Given the description of an element on the screen output the (x, y) to click on. 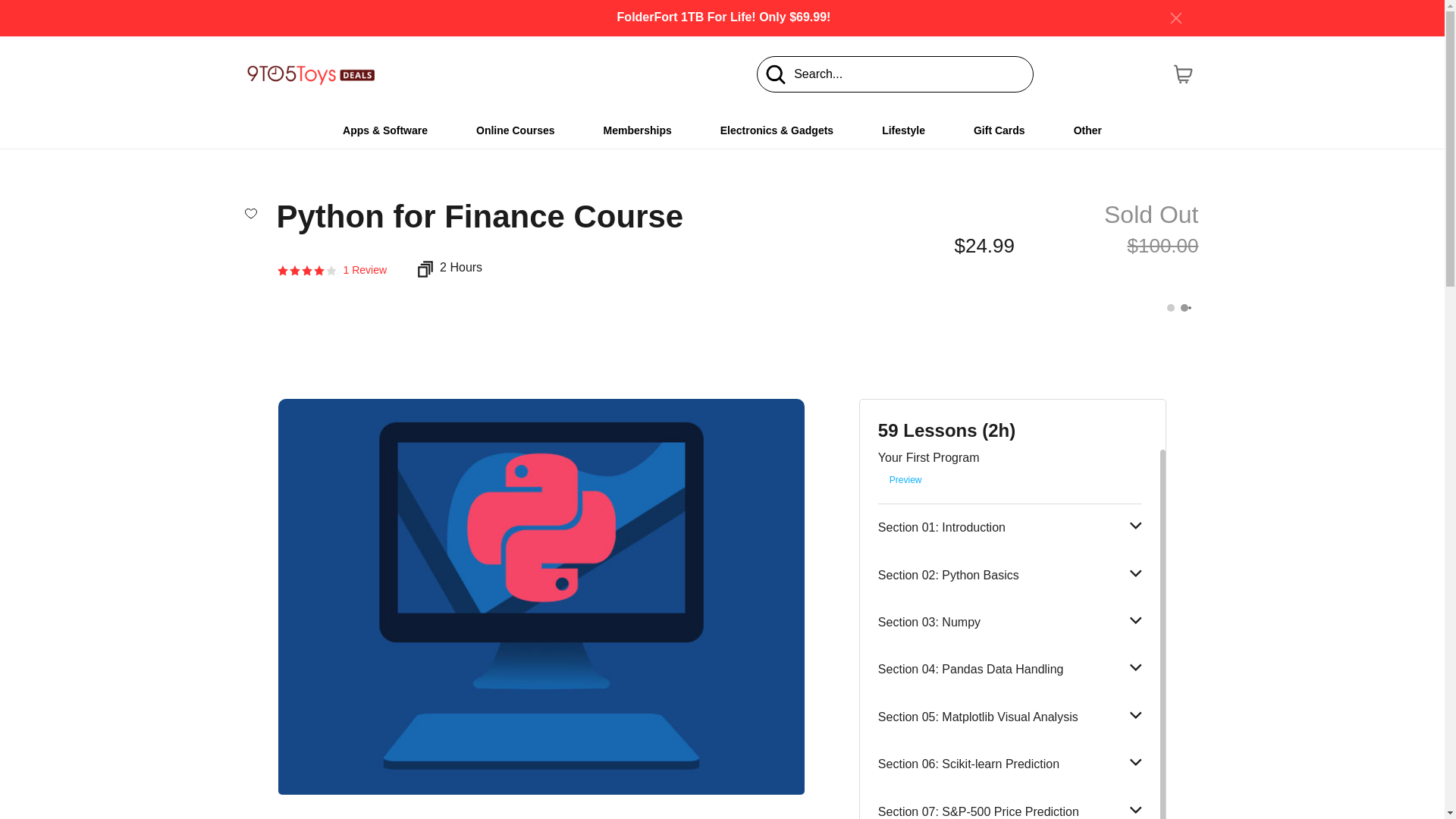
Add to wishlist (250, 212)
